Given the description of an element on the screen output the (x, y) to click on. 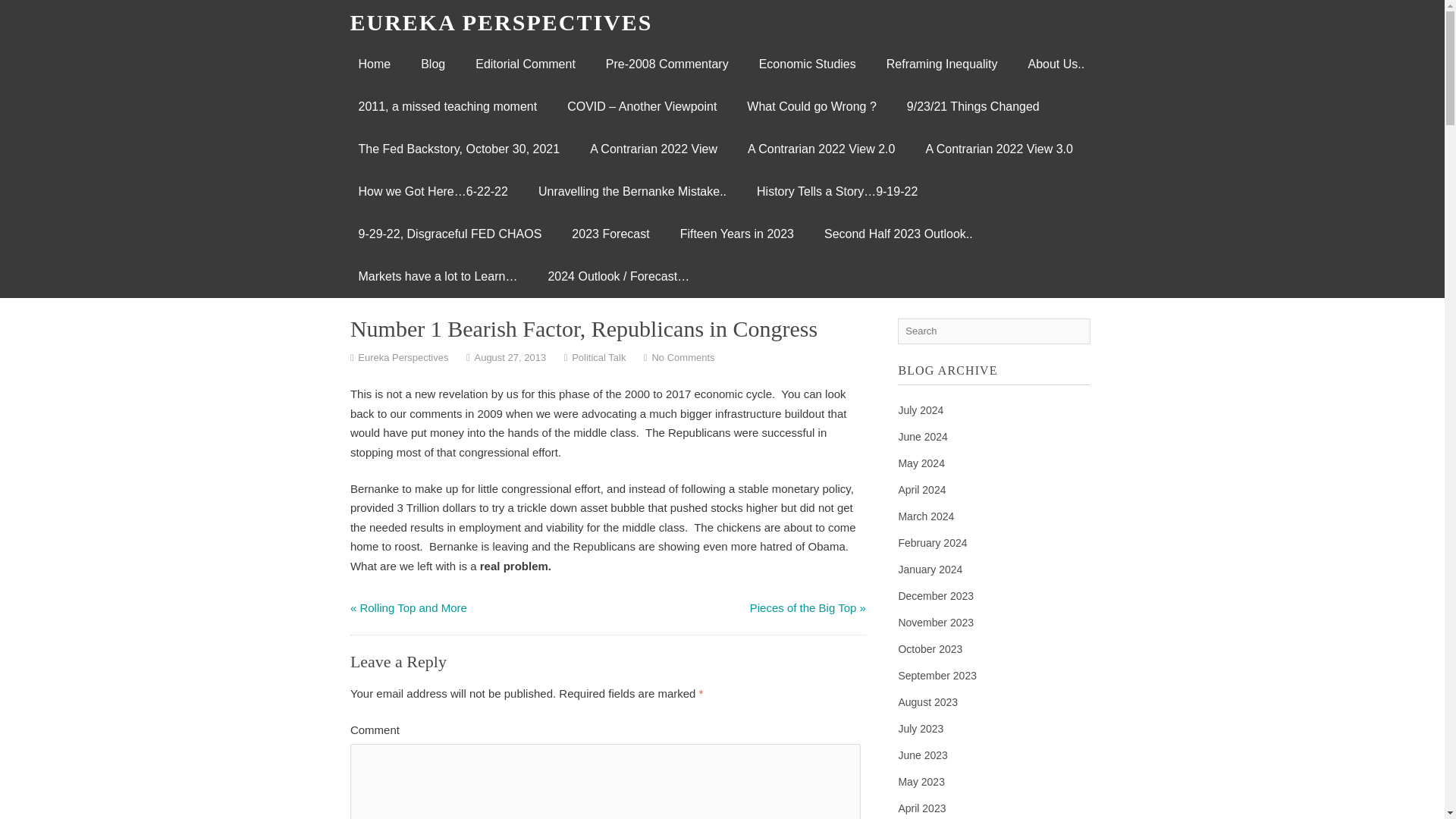
Pieces of the Big Top (803, 607)
Fifteen Years in 2023 (737, 233)
Home (374, 64)
Blog (433, 64)
2023 Forecast (609, 233)
About Us.. (1055, 64)
9-29-22, Disgraceful FED CHAOS (449, 233)
A Contrarian 2022 View 3.0 (998, 148)
Unravelling the Bernanke Mistake.. (631, 191)
A Contrarian 2022 View 2.0 (821, 148)
Rolling Top and More (412, 607)
Skip to content (397, 64)
EUREKA PERSPECTIVES (501, 22)
The Fed Backstory, October 30, 2021 (458, 148)
Editorial Comment (525, 64)
